Given the description of an element on the screen output the (x, y) to click on. 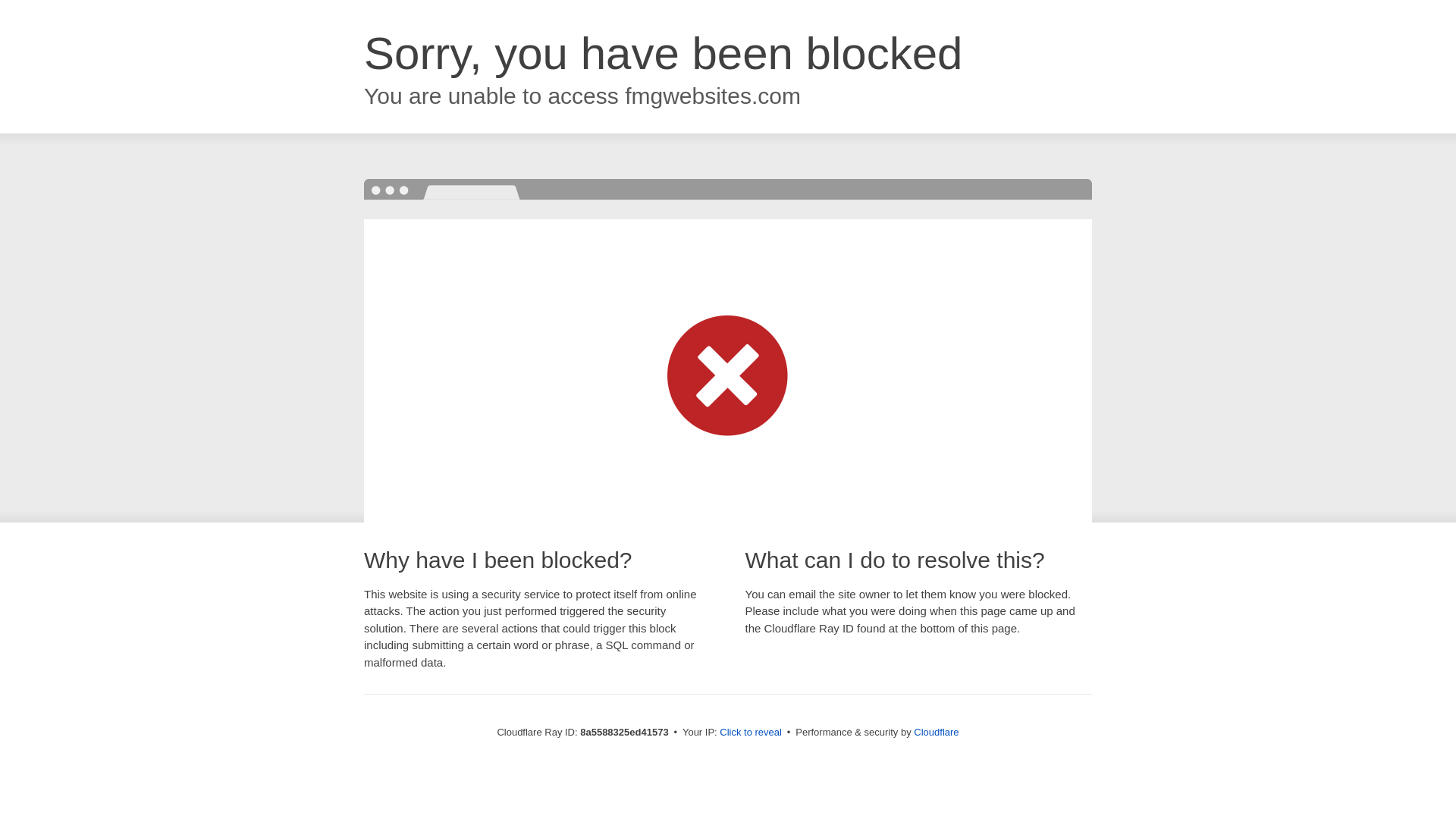
Cloudflare (936, 731)
Click to reveal (750, 732)
